Given the description of an element on the screen output the (x, y) to click on. 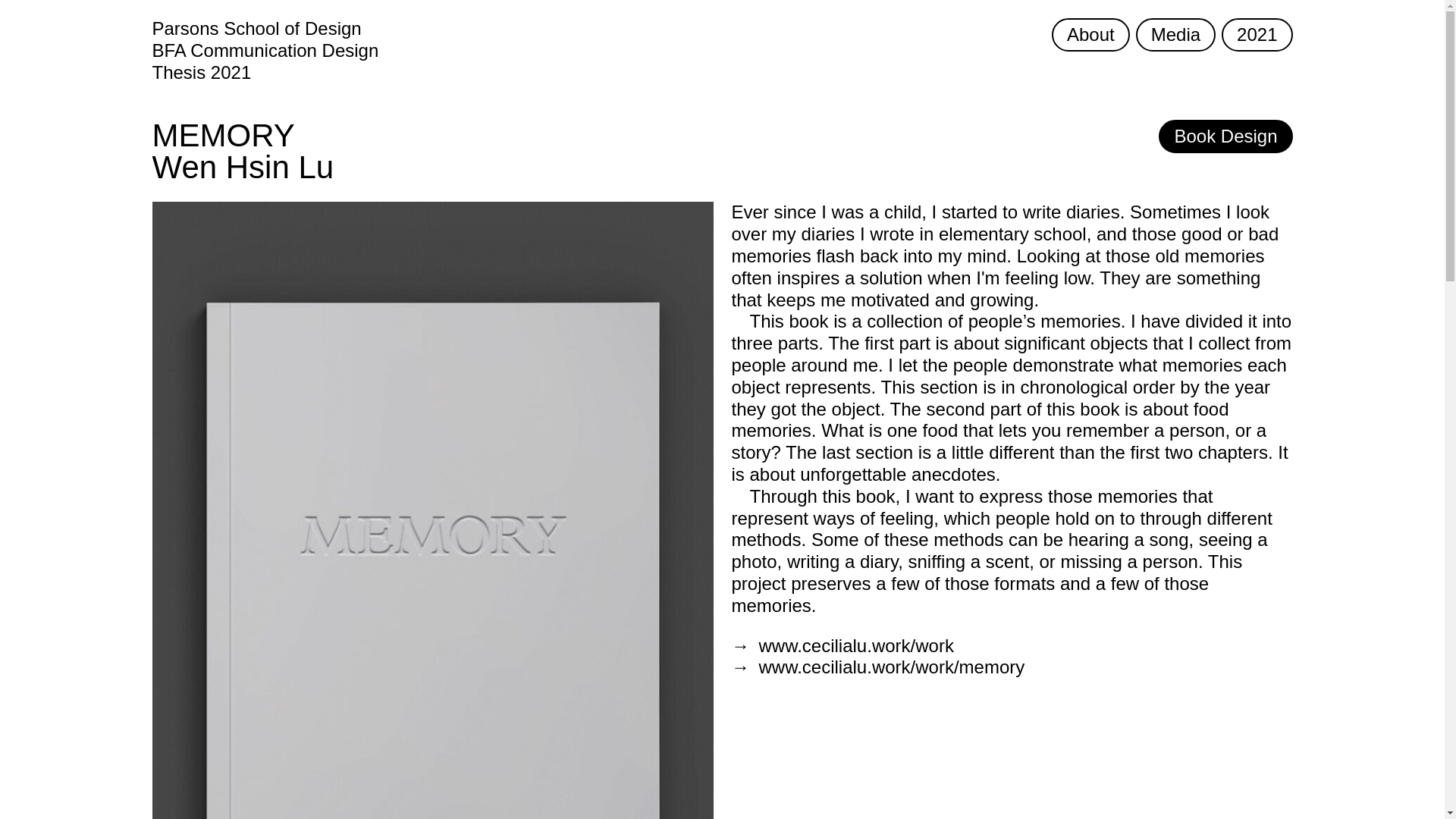
About (1090, 34)
Book Design (1225, 136)
Media (1175, 34)
2021 (1256, 34)
